Given the description of an element on the screen output the (x, y) to click on. 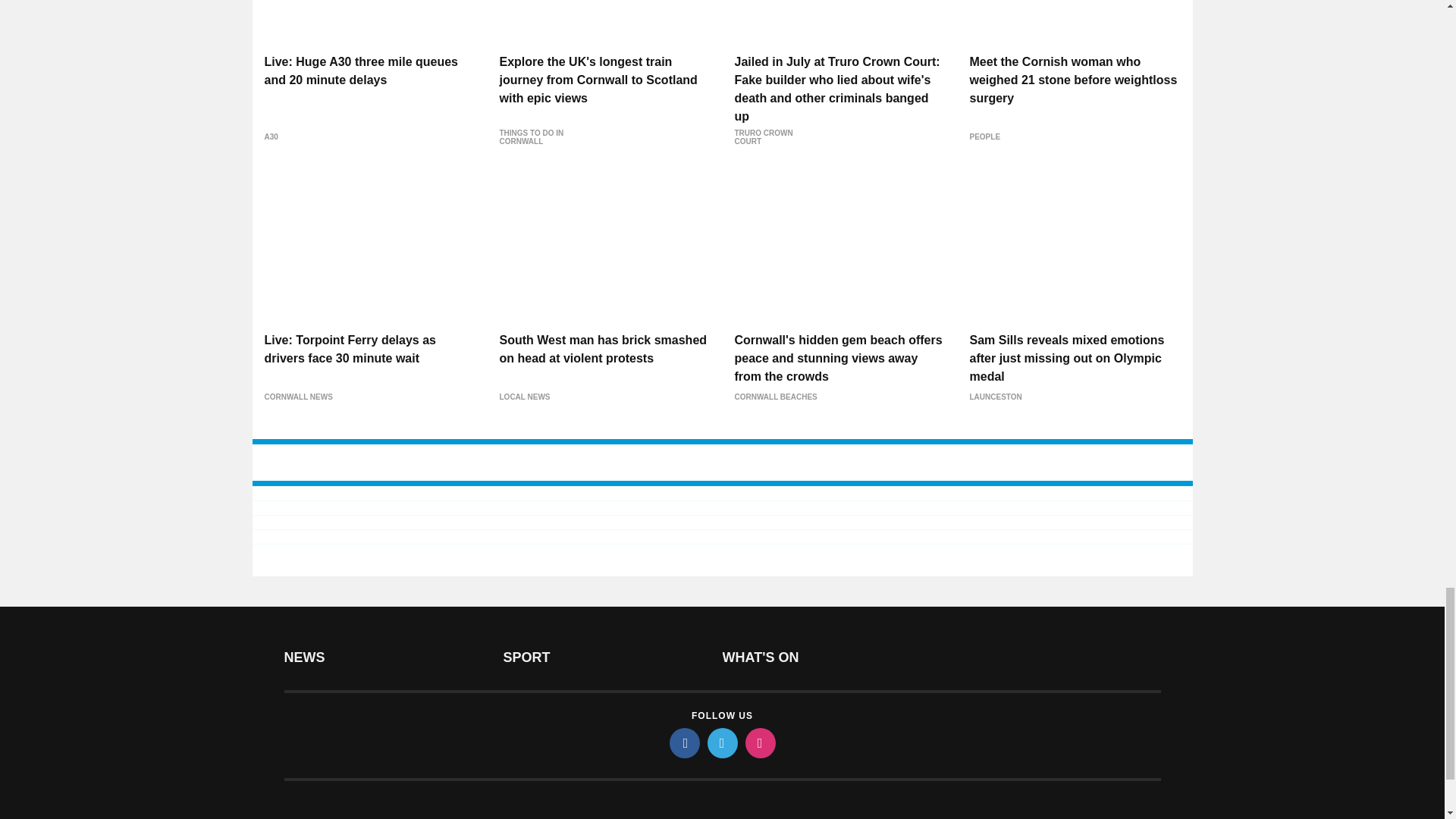
instagram (759, 743)
facebook (683, 743)
twitter (721, 743)
